Given the description of an element on the screen output the (x, y) to click on. 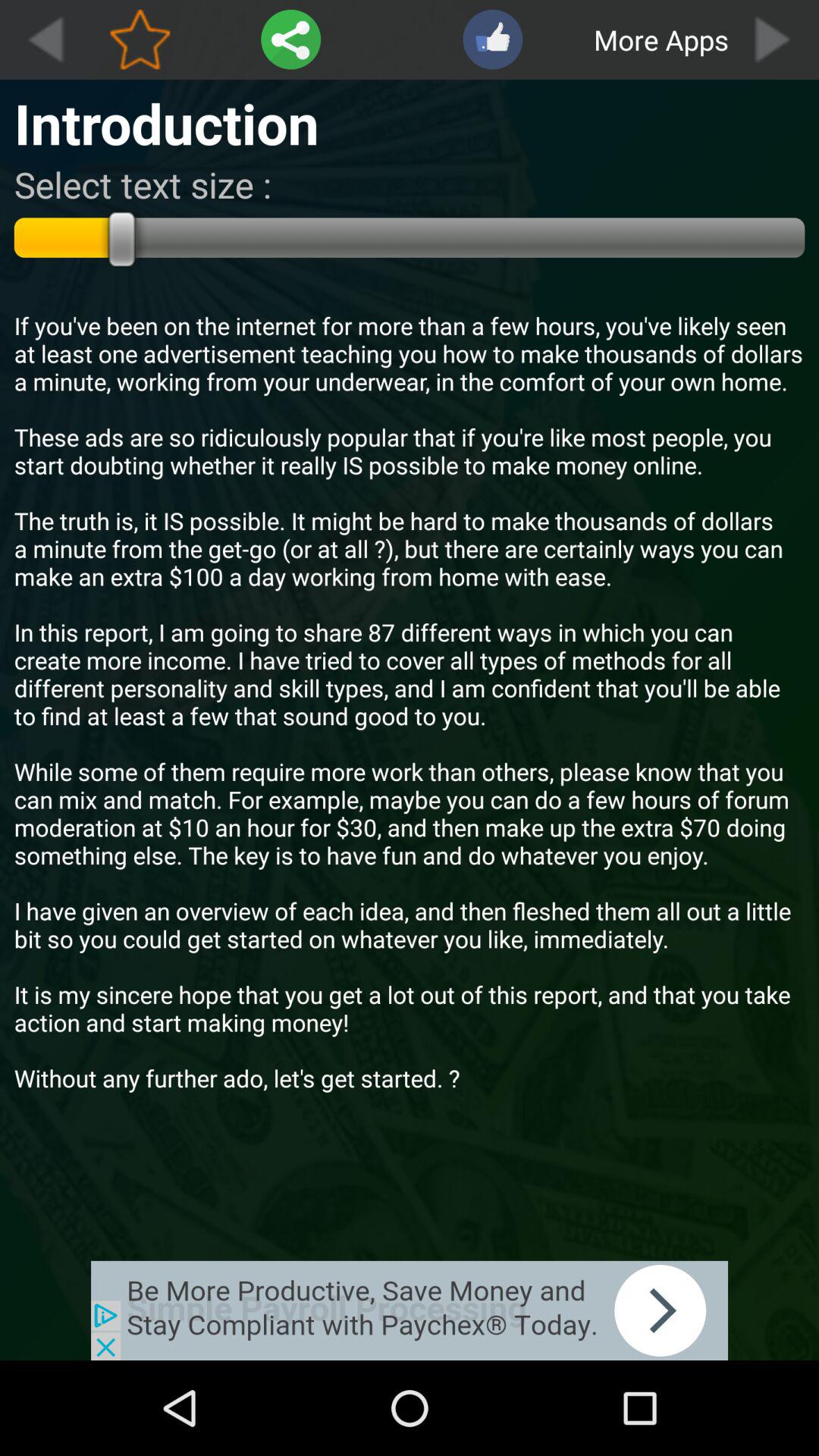
select advertisement (409, 1310)
